Given the description of an element on the screen output the (x, y) to click on. 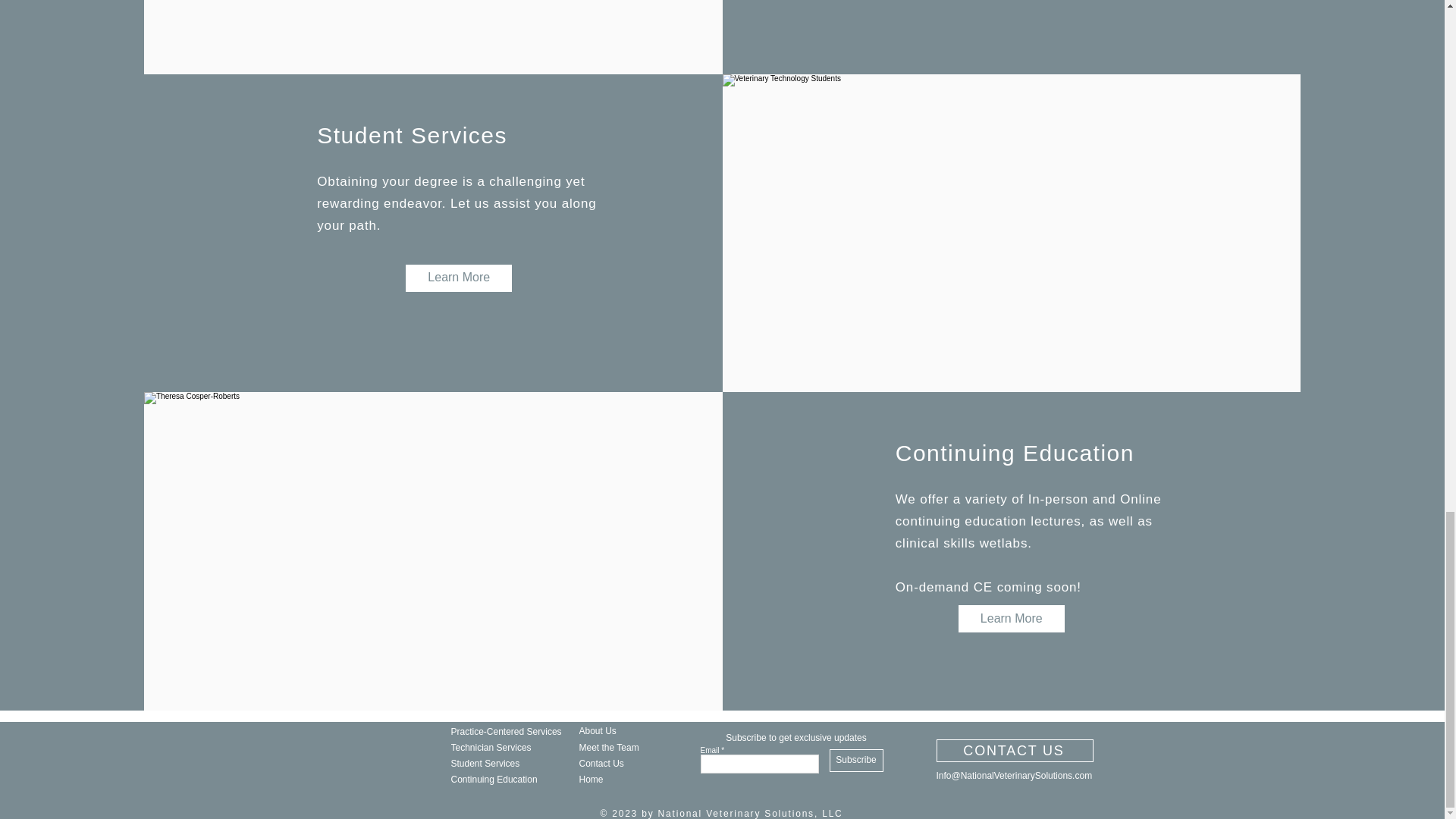
Contact Us (638, 763)
About Us (638, 730)
Continuing Education (509, 779)
Learn More (1011, 618)
Technician Services (509, 747)
Practice-Centered Services (509, 731)
Student Services (509, 763)
Subscribe (856, 760)
Meet the Team (638, 747)
Home (638, 779)
